Given the description of an element on the screen output the (x, y) to click on. 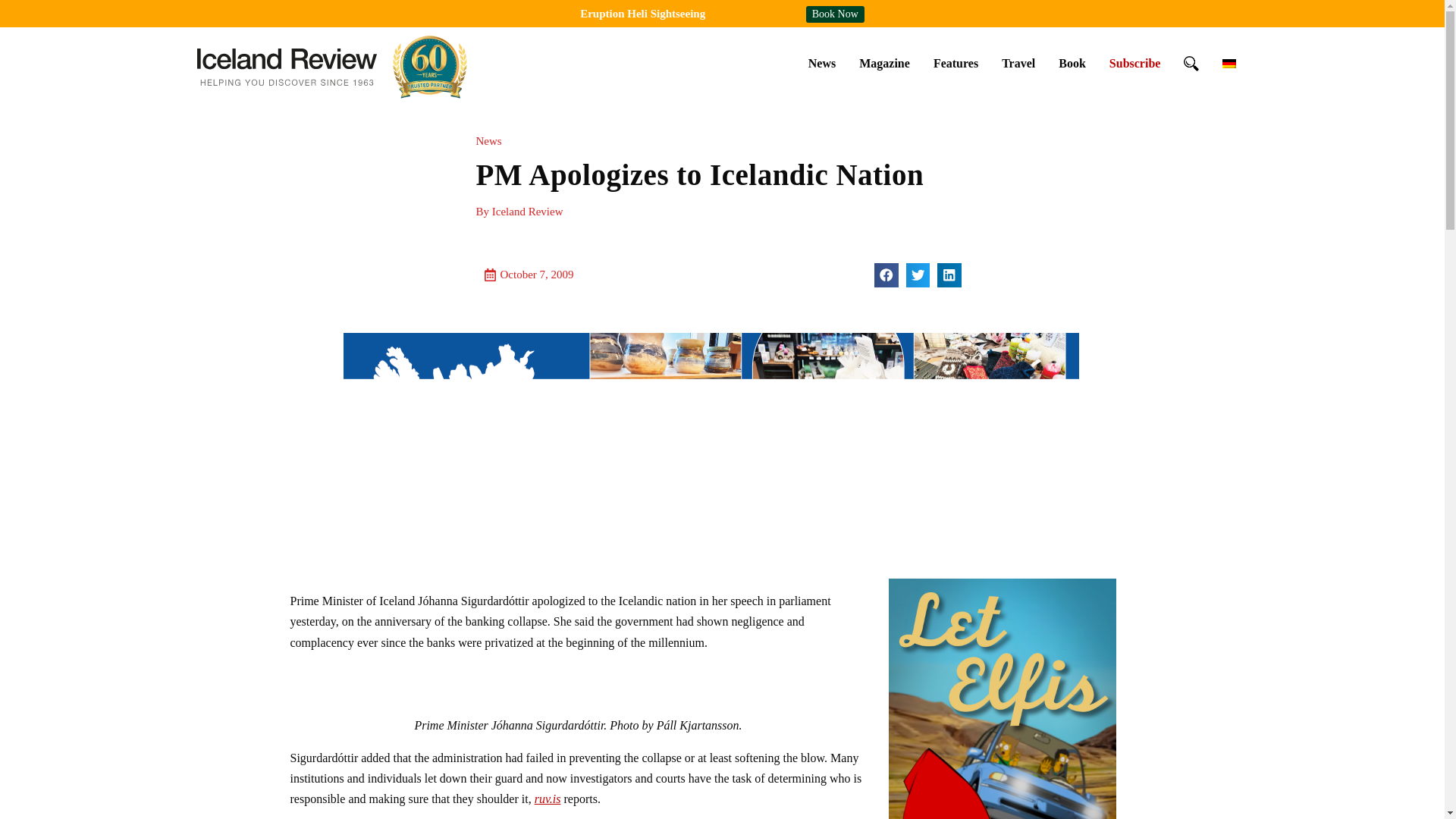
Magazine (884, 63)
Features (955, 63)
Book (1071, 63)
Subscribe (1134, 63)
Eruption Heli Sightseeing (641, 13)
Travel (1018, 63)
Book Now (835, 13)
News (821, 63)
